Given the description of an element on the screen output the (x, y) to click on. 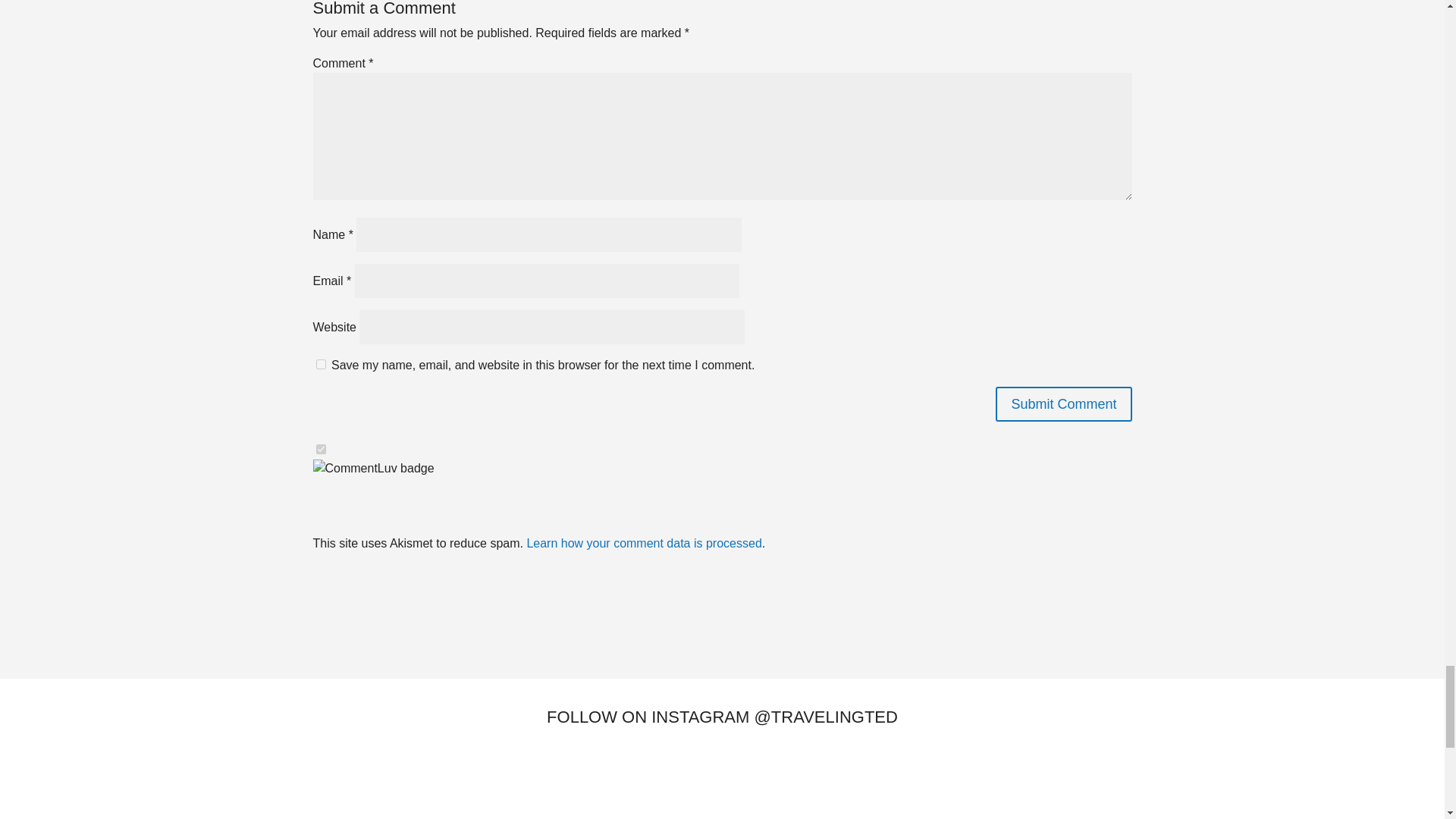
on (319, 449)
yes (319, 364)
Submit Comment (1063, 403)
